Given the description of an element on the screen output the (x, y) to click on. 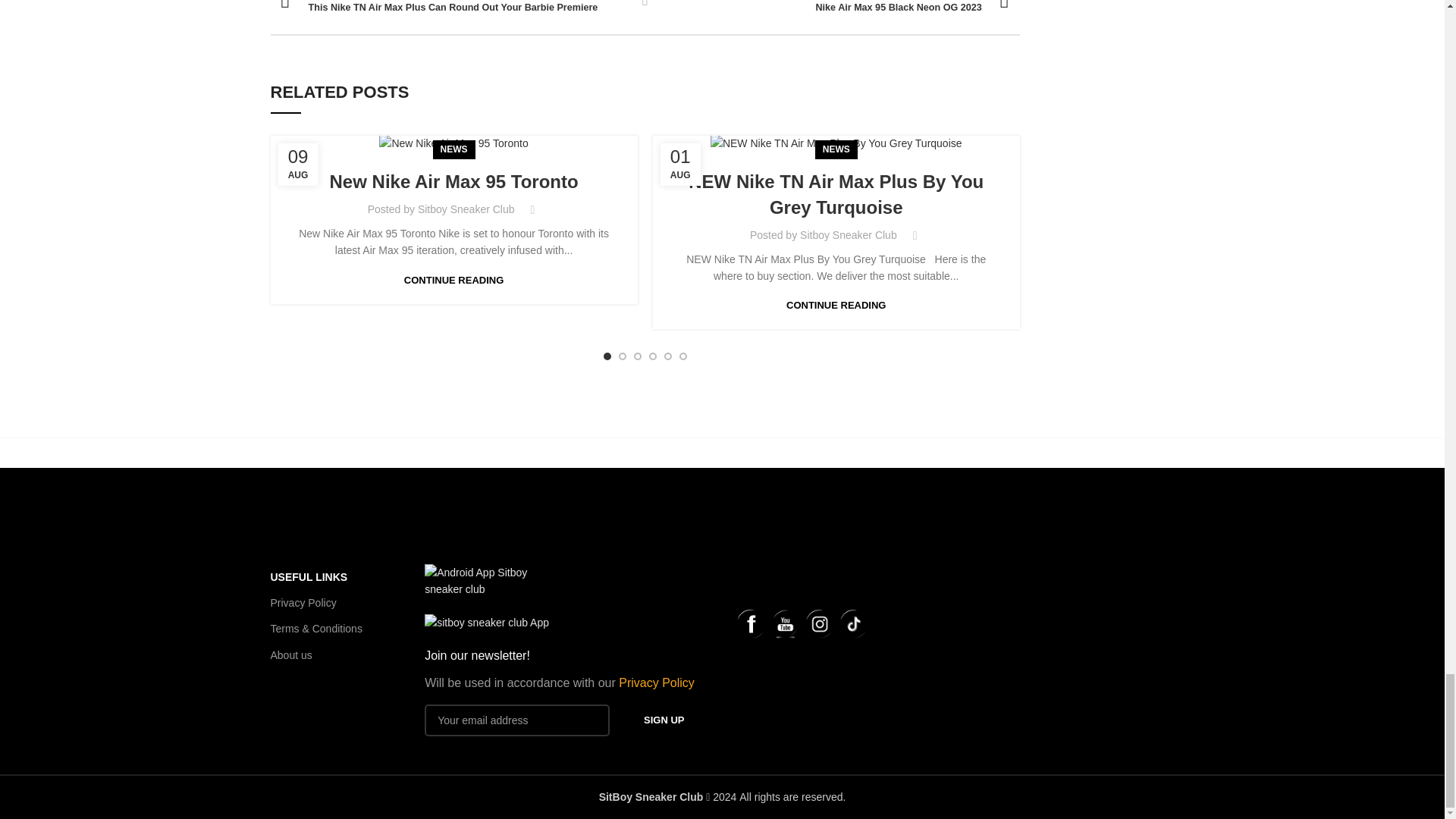
New Nike Air Max 95 Toronto (452, 143)
NEW Nike TN Air Max Plus By You Grey Turquoise (836, 143)
Sign up (663, 720)
